Given the description of an element on the screen output the (x, y) to click on. 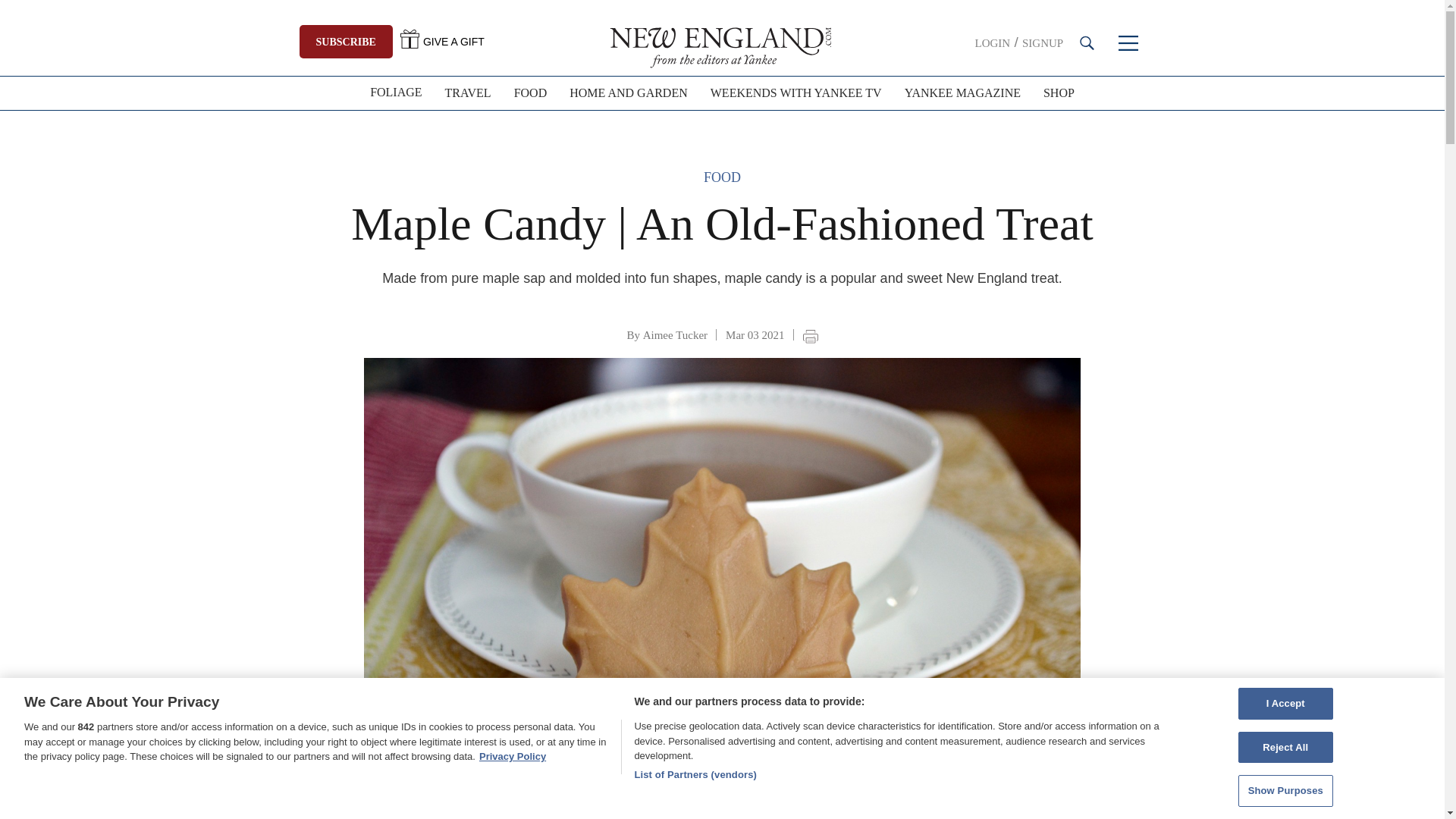
GIVE A GIFT (442, 41)
ne-fromtheeditors (722, 45)
SUBSCRIBE (344, 41)
FOOD (530, 92)
TRAVEL (467, 92)
HOME AND GARDEN (627, 92)
SIGNUP (1042, 42)
FOLIAGE (395, 92)
SUBSCRIBE (345, 41)
YANKEE MAGAZINE (962, 92)
WEEKENDS WITH YANKEE TV (795, 92)
LOGIN (992, 42)
